Given the description of an element on the screen output the (x, y) to click on. 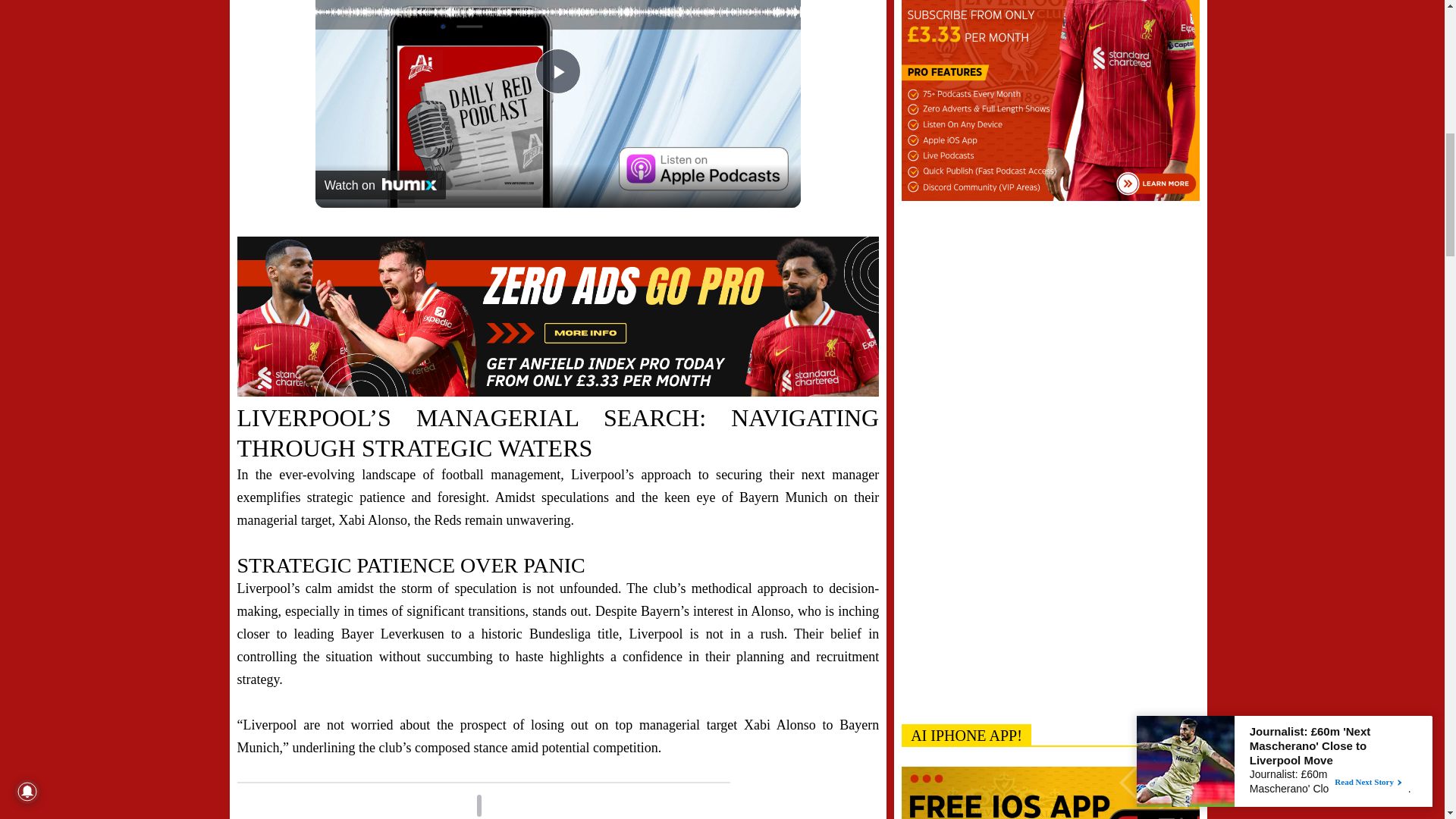
Play Video (557, 71)
